Given the description of an element on the screen output the (x, y) to click on. 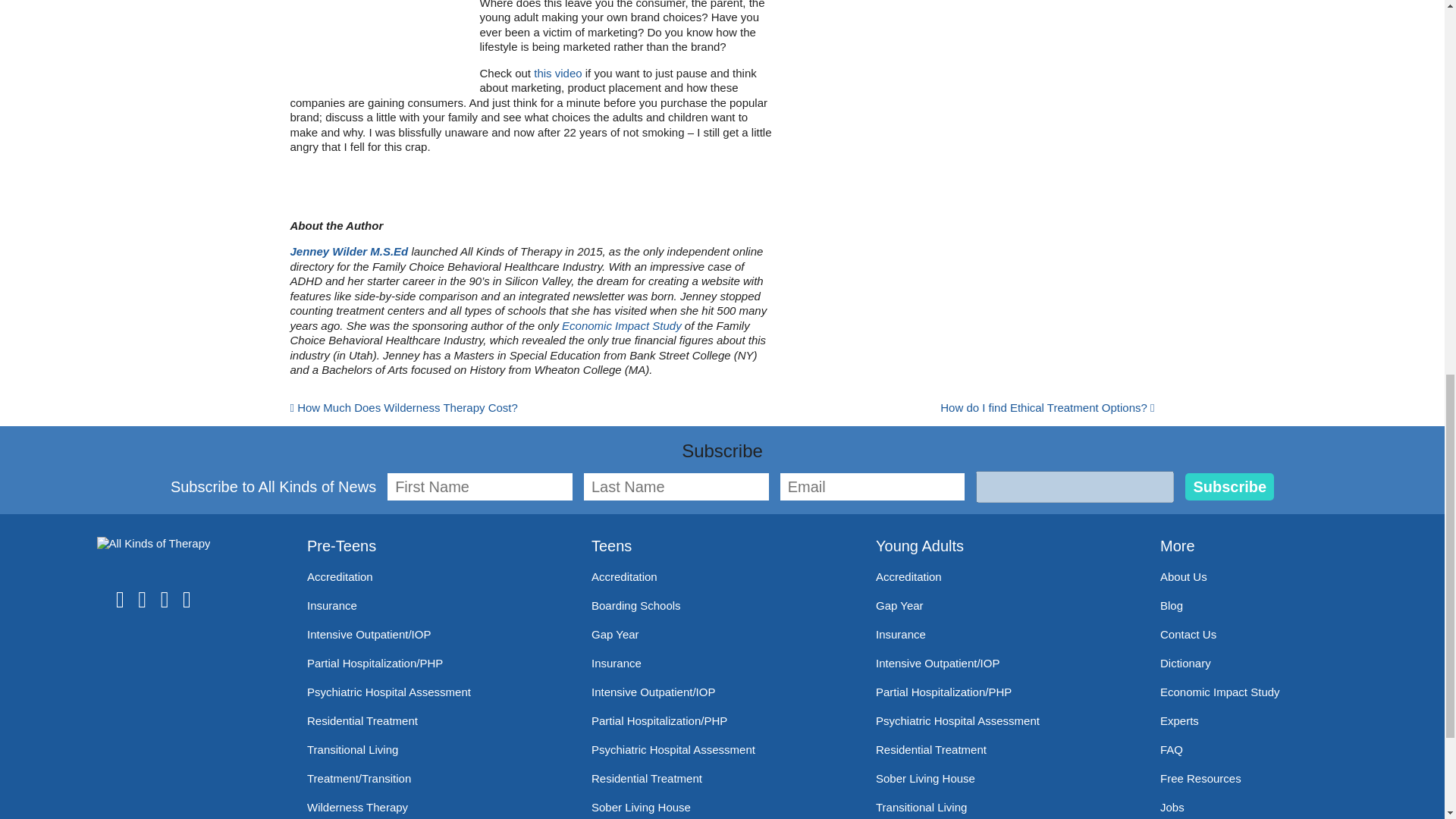
How do I find Ethical Treatment Options?  (1047, 407)
 How Much Does Wilderness Therapy Cost? (402, 407)
Insurance (331, 604)
this video (559, 72)
Pre-Teens (341, 545)
Economic Impact Study (621, 325)
Jenney Wilder M.S.Ed (348, 250)
Subscribe (1229, 486)
Accreditation (339, 576)
